Given the description of an element on the screen output the (x, y) to click on. 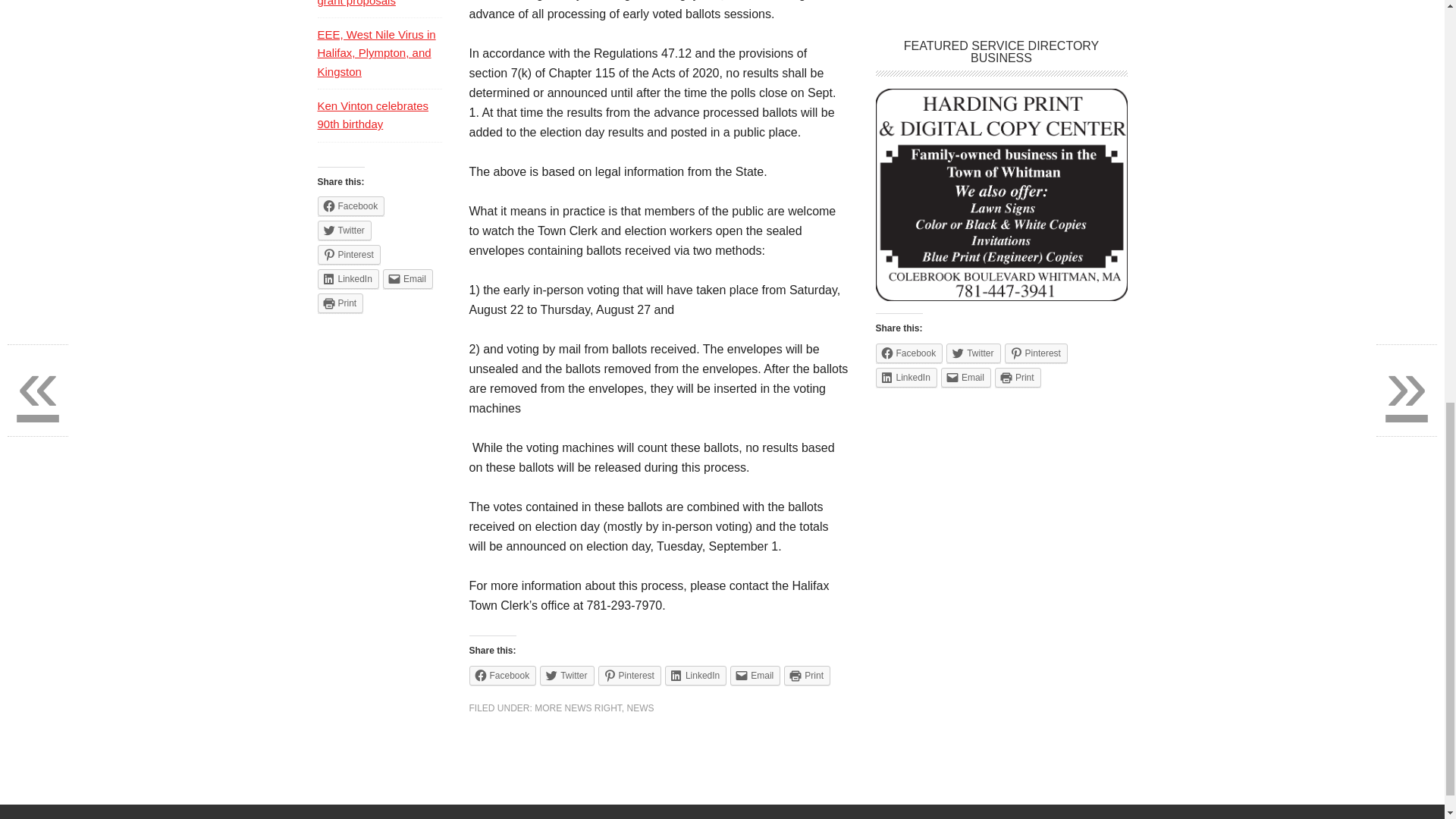
Click to share on Facebook (501, 675)
LinkedIn (905, 377)
Click to share on Facebook (350, 206)
Click to email a link to a friend (755, 675)
Facebook (908, 353)
Click to print (806, 675)
Click to share on Pinterest (1035, 353)
Pinterest (629, 675)
Twitter (567, 675)
LinkedIn (695, 675)
